Given the description of an element on the screen output the (x, y) to click on. 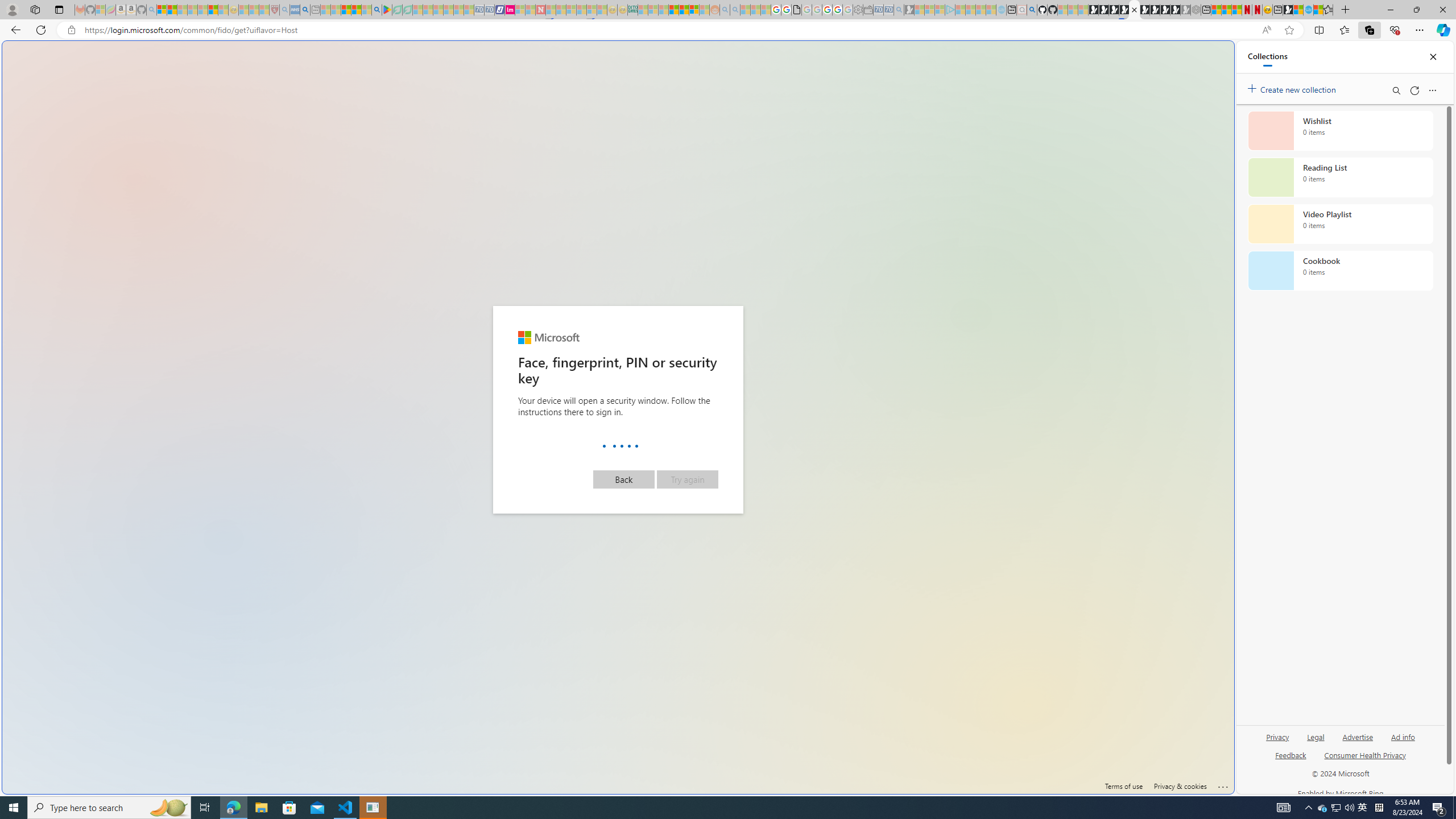
Play Cave FRVR in your browser | Games from Microsoft Start (922, 242)
Reading List collection, 0 items (1339, 177)
DITOGAMES AG Imprint (632, 9)
